Given the description of an element on the screen output the (x, y) to click on. 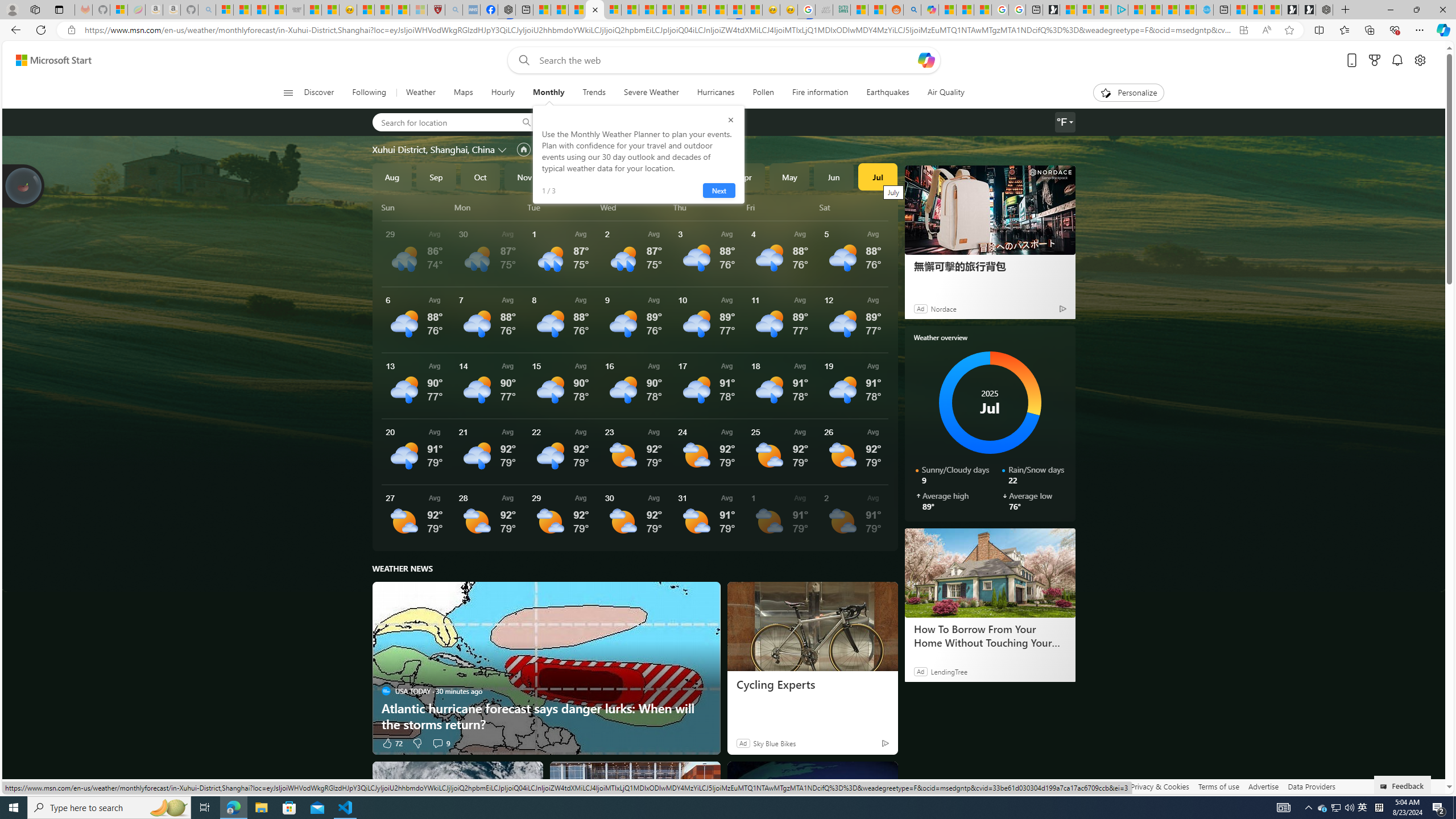
Trends (593, 92)
Class: feedback_link_icon-DS-EntryPoint1-1 (1384, 786)
Personalize (1128, 92)
Dec (568, 176)
Your Privacy Choices (987, 785)
